Given the description of an element on the screen output the (x, y) to click on. 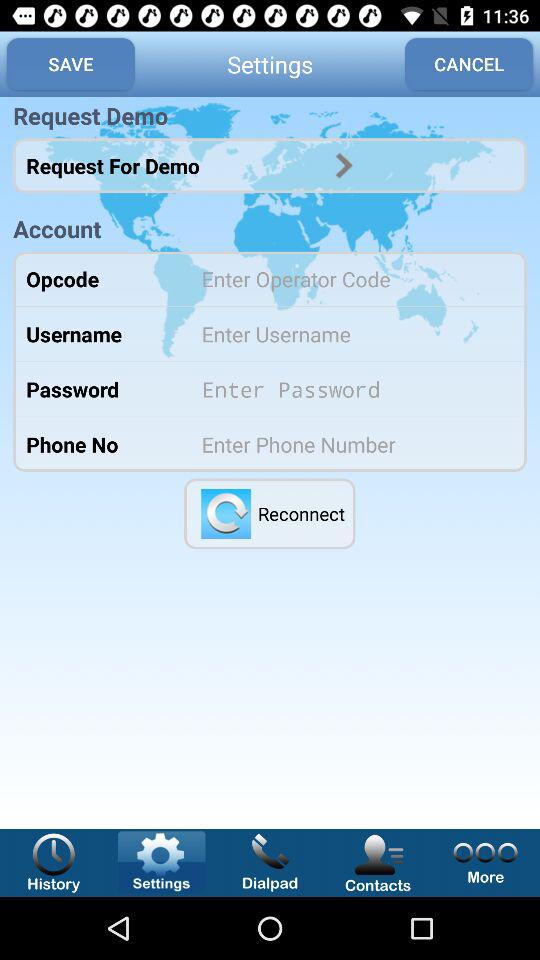
enter your password (350, 389)
